Given the description of an element on the screen output the (x, y) to click on. 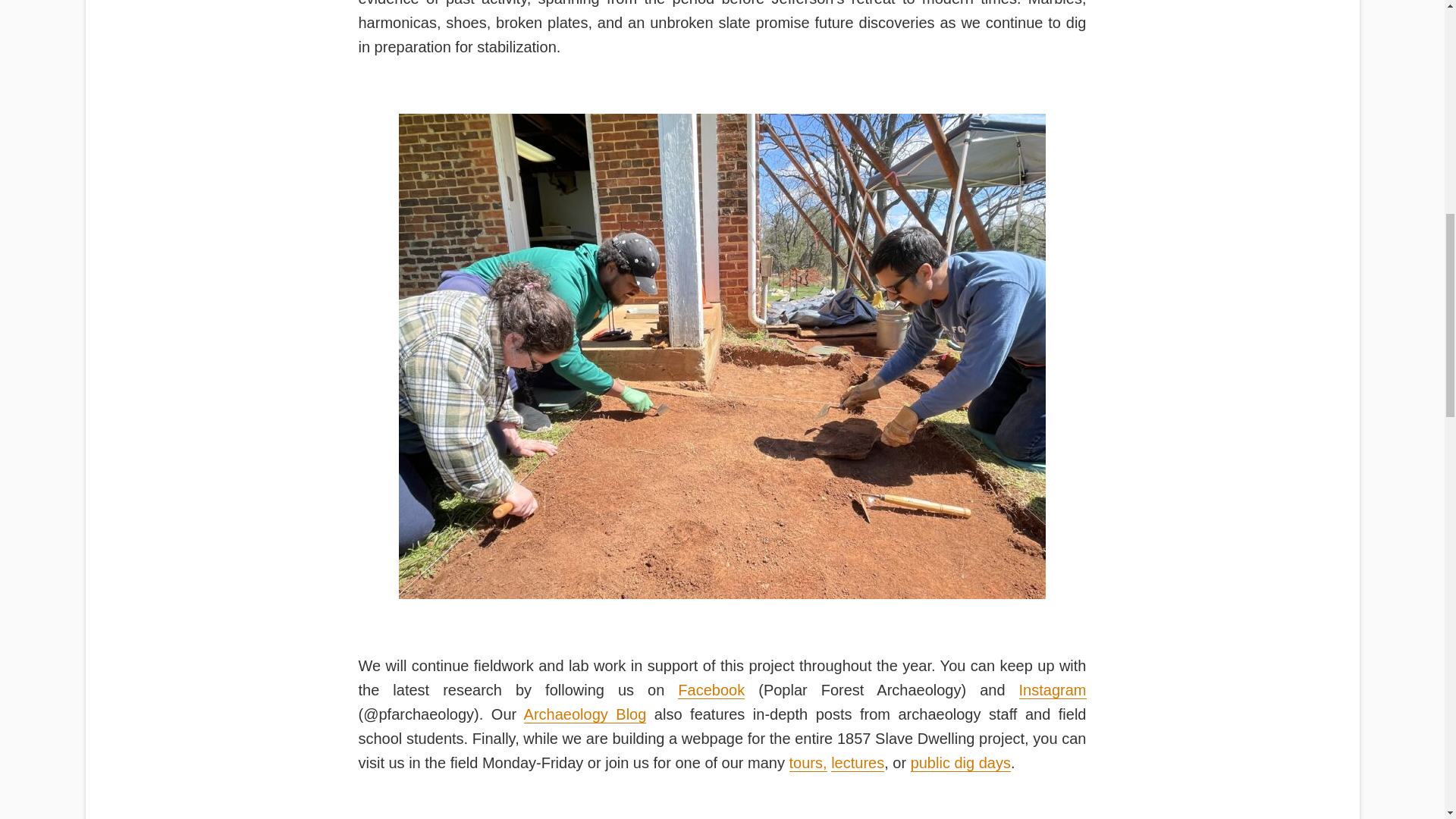
lectures (857, 763)
Instagram (1052, 690)
Archaeology Blog (585, 714)
public dig days (960, 763)
Facebook (711, 690)
tours, (808, 763)
